Given the description of an element on the screen output the (x, y) to click on. 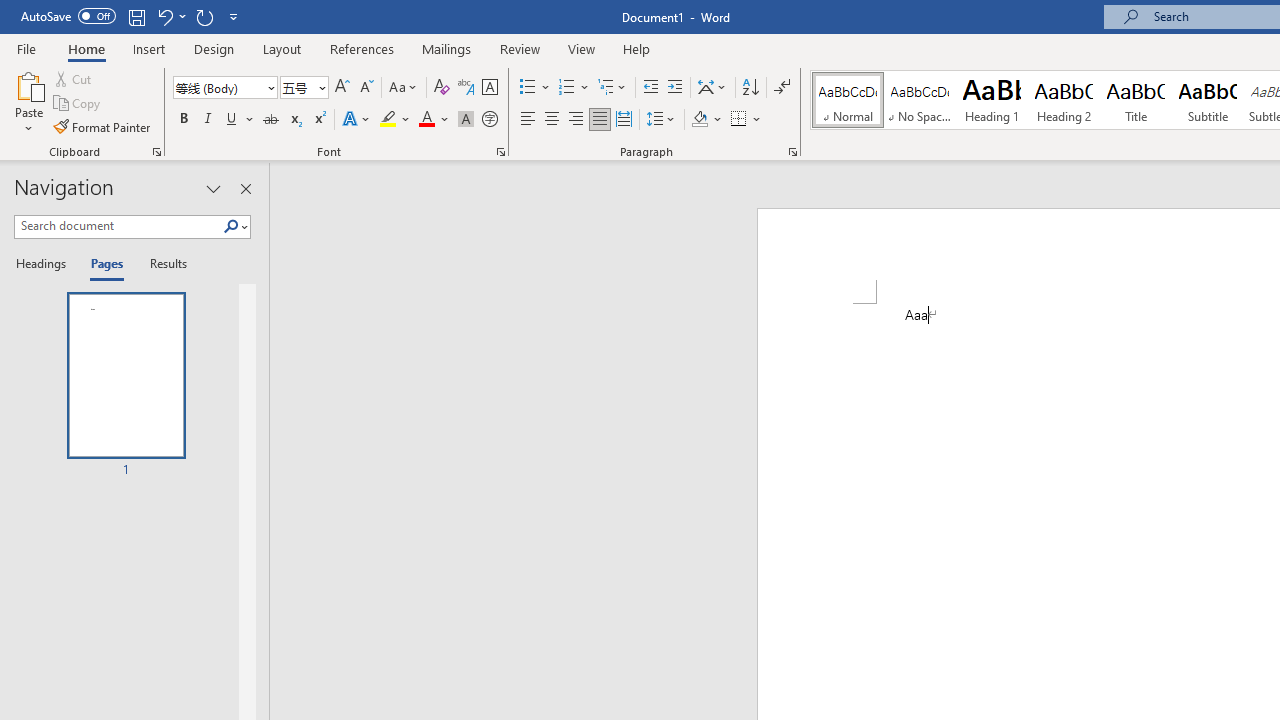
Repeat Increase Indent (204, 15)
